Given the description of an element on the screen output the (x, y) to click on. 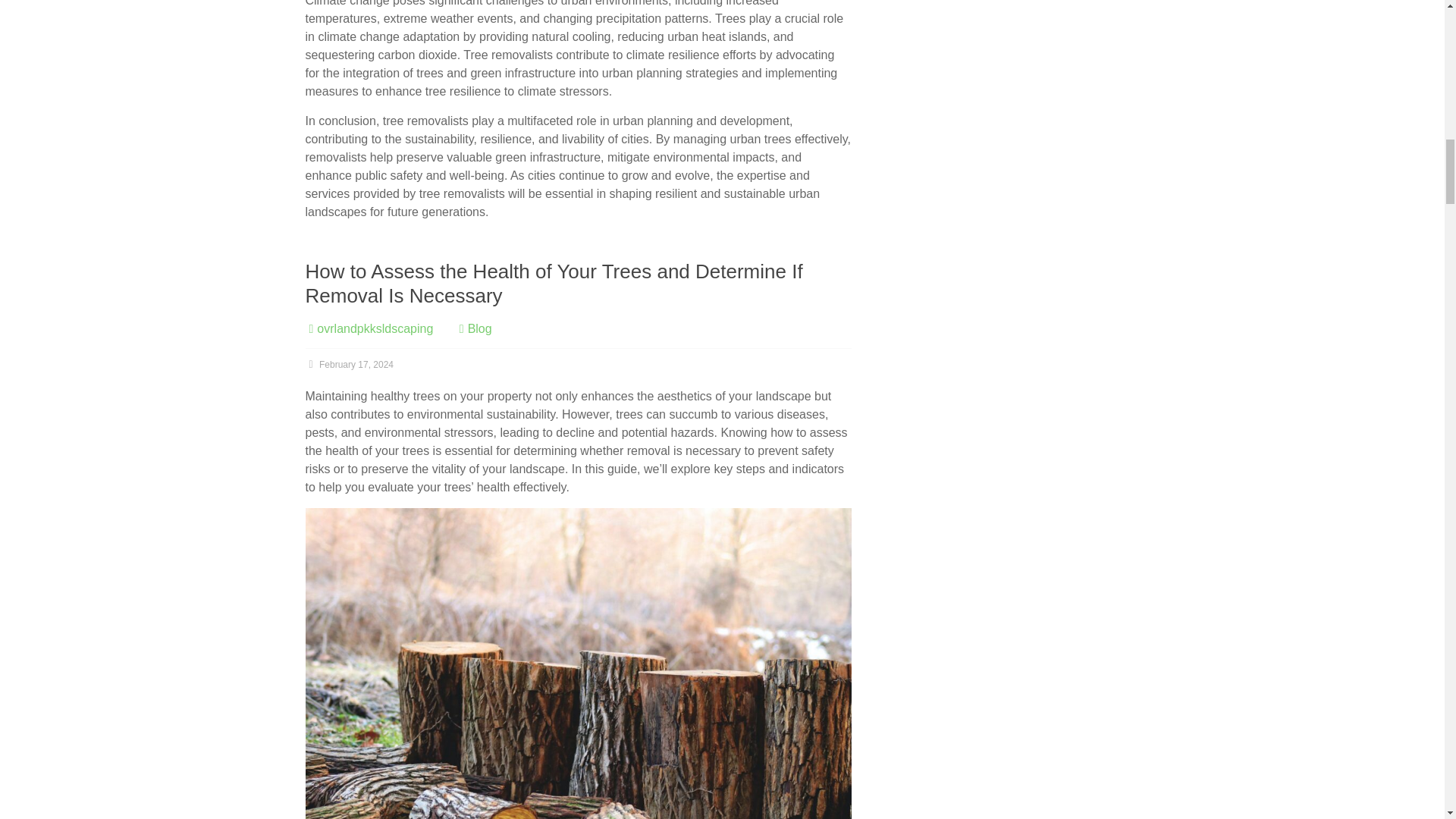
February 17, 2024 (348, 364)
ovrlandpkksldscaping (374, 328)
3:12 pm (348, 364)
ovrlandpkksldscaping (374, 328)
Blog (479, 328)
